Given the description of an element on the screen output the (x, y) to click on. 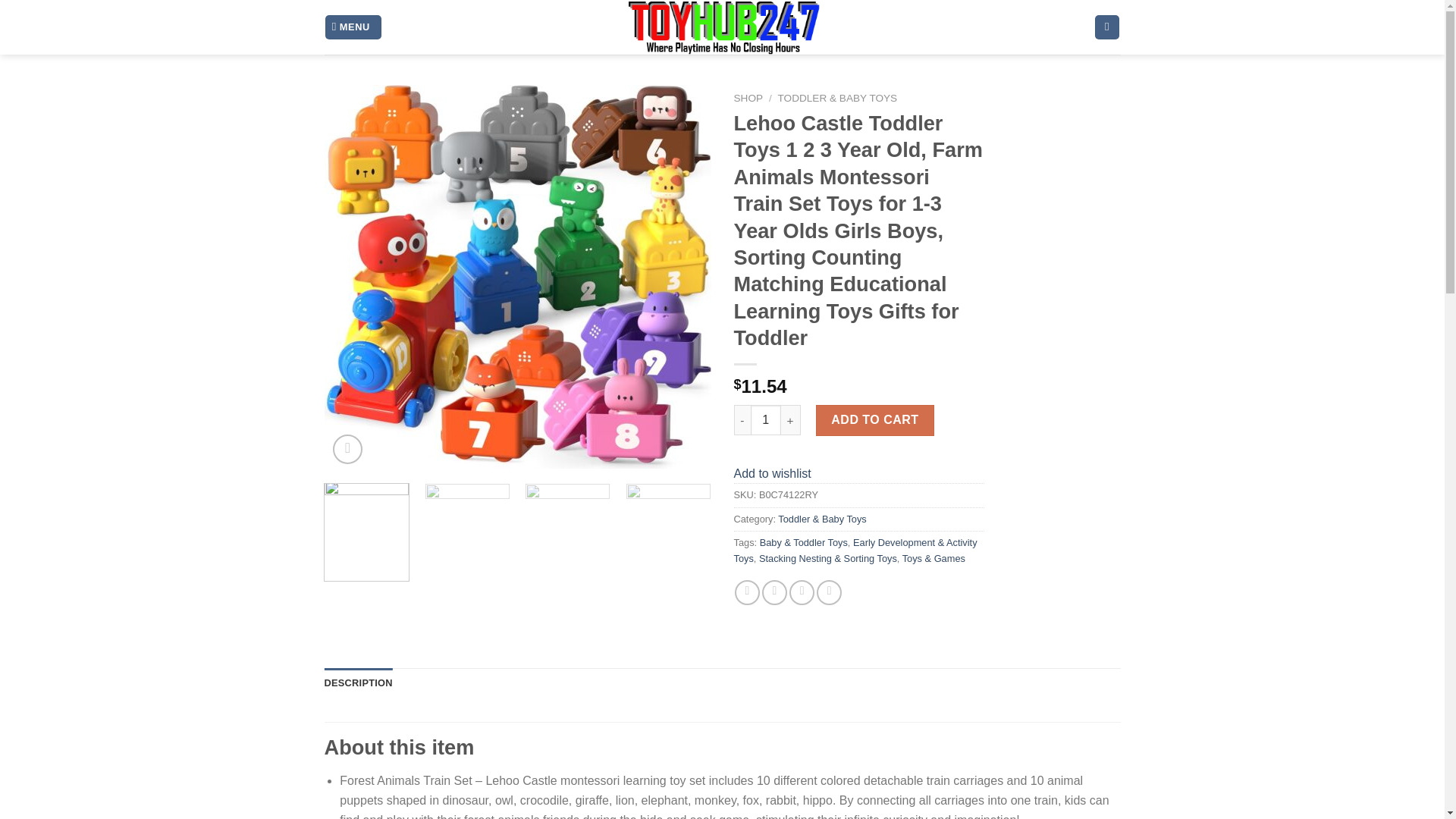
ToyHub247.com - Where Playtime Has No Closing Hours! (722, 27)
Share on Telegram (828, 592)
- (742, 419)
Email to a Friend (801, 592)
ADD TO CART (874, 419)
1 (765, 419)
MENU (352, 27)
Cart (1106, 27)
Share on Twitter (774, 592)
Zoom (347, 449)
Share on Facebook (747, 592)
SHOP (747, 98)
Add to wishlist (771, 472)
